Given the description of an element on the screen output the (x, y) to click on. 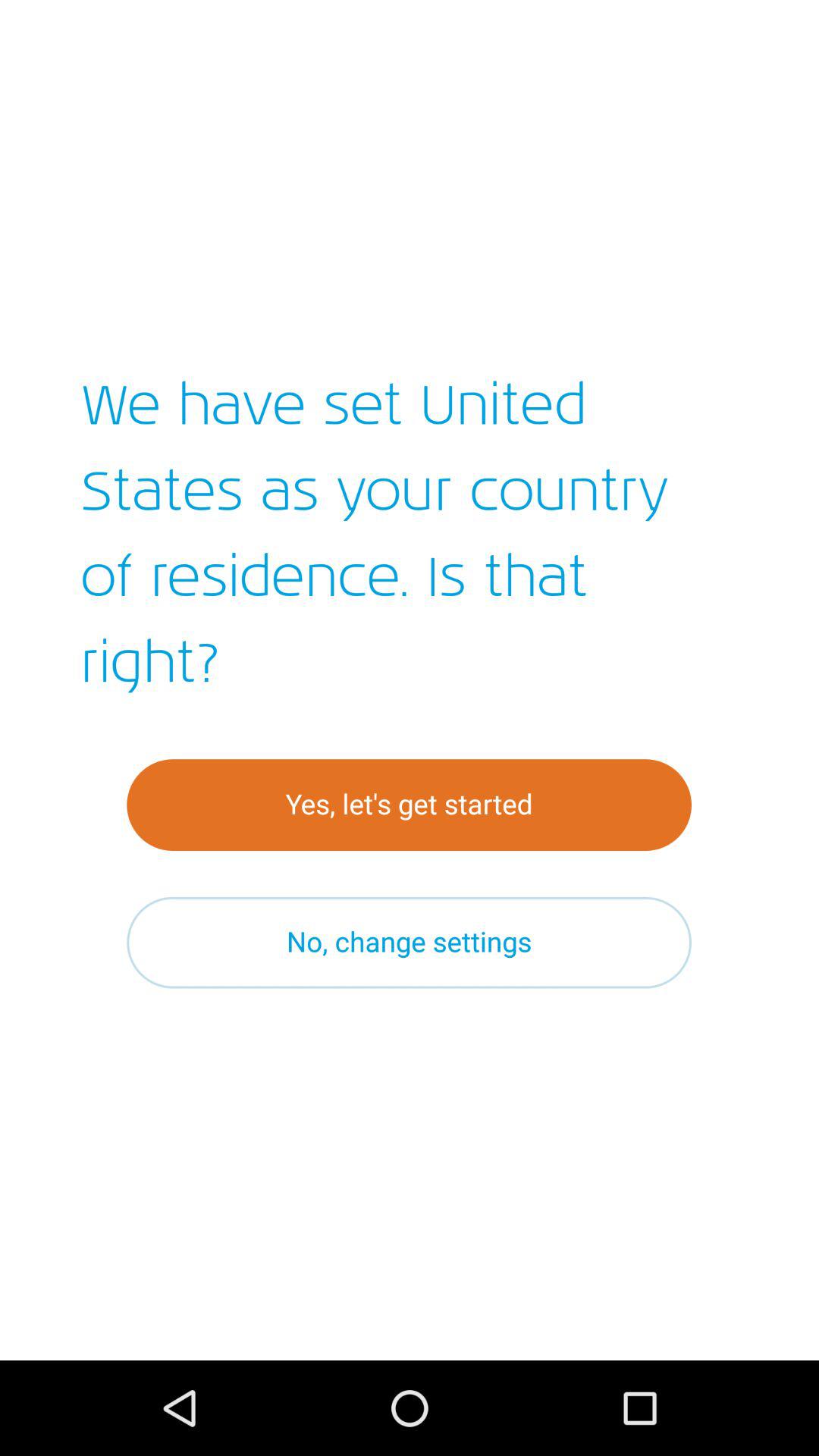
launch the no, change settings item (408, 942)
